Given the description of an element on the screen output the (x, y) to click on. 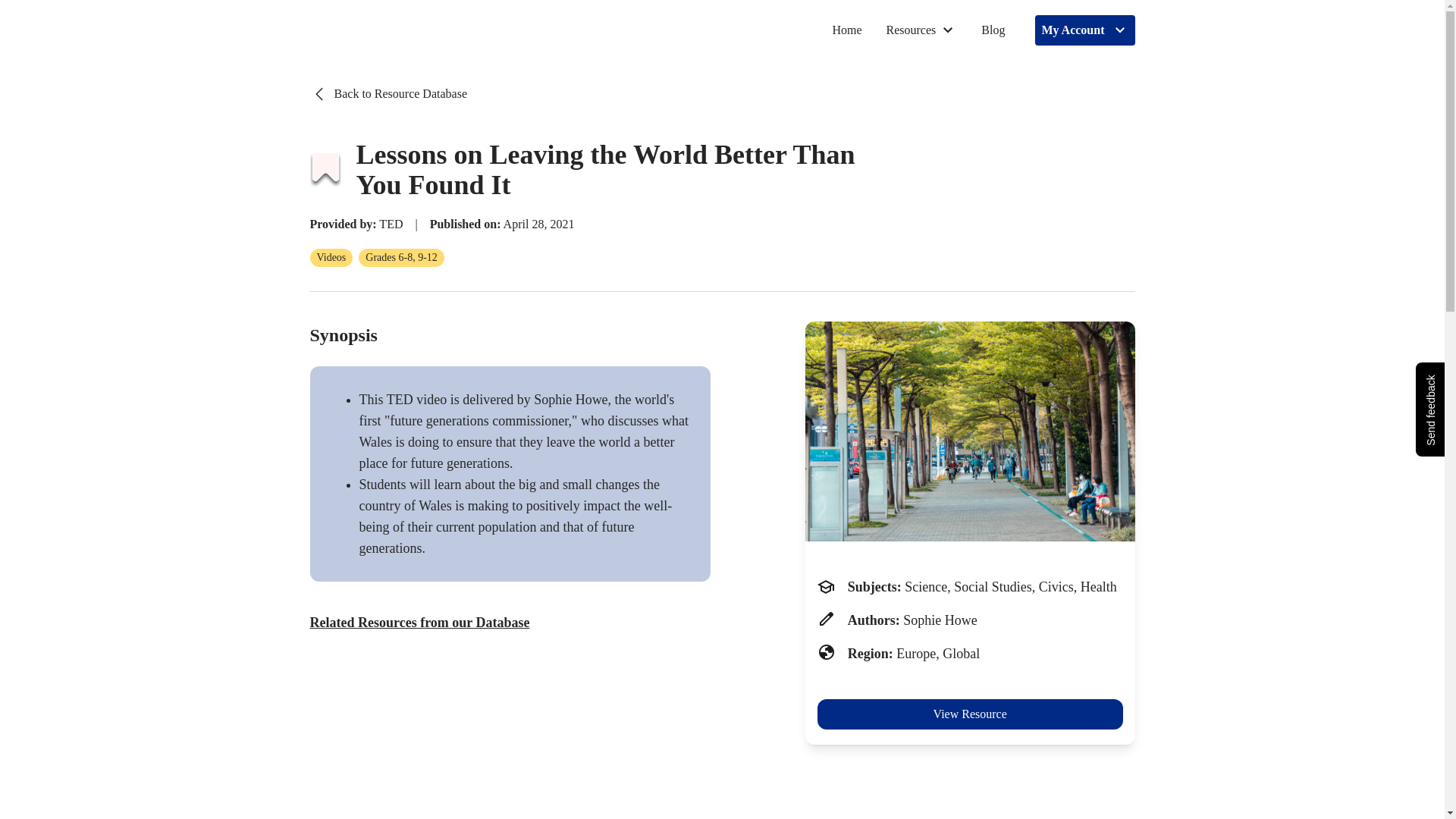
Back to Resource Database (386, 94)
Home (846, 30)
Resources (920, 30)
My Account (1084, 30)
View Resource (969, 714)
Related Resources from our Database (418, 622)
Blog (992, 30)
